Given the description of an element on the screen output the (x, y) to click on. 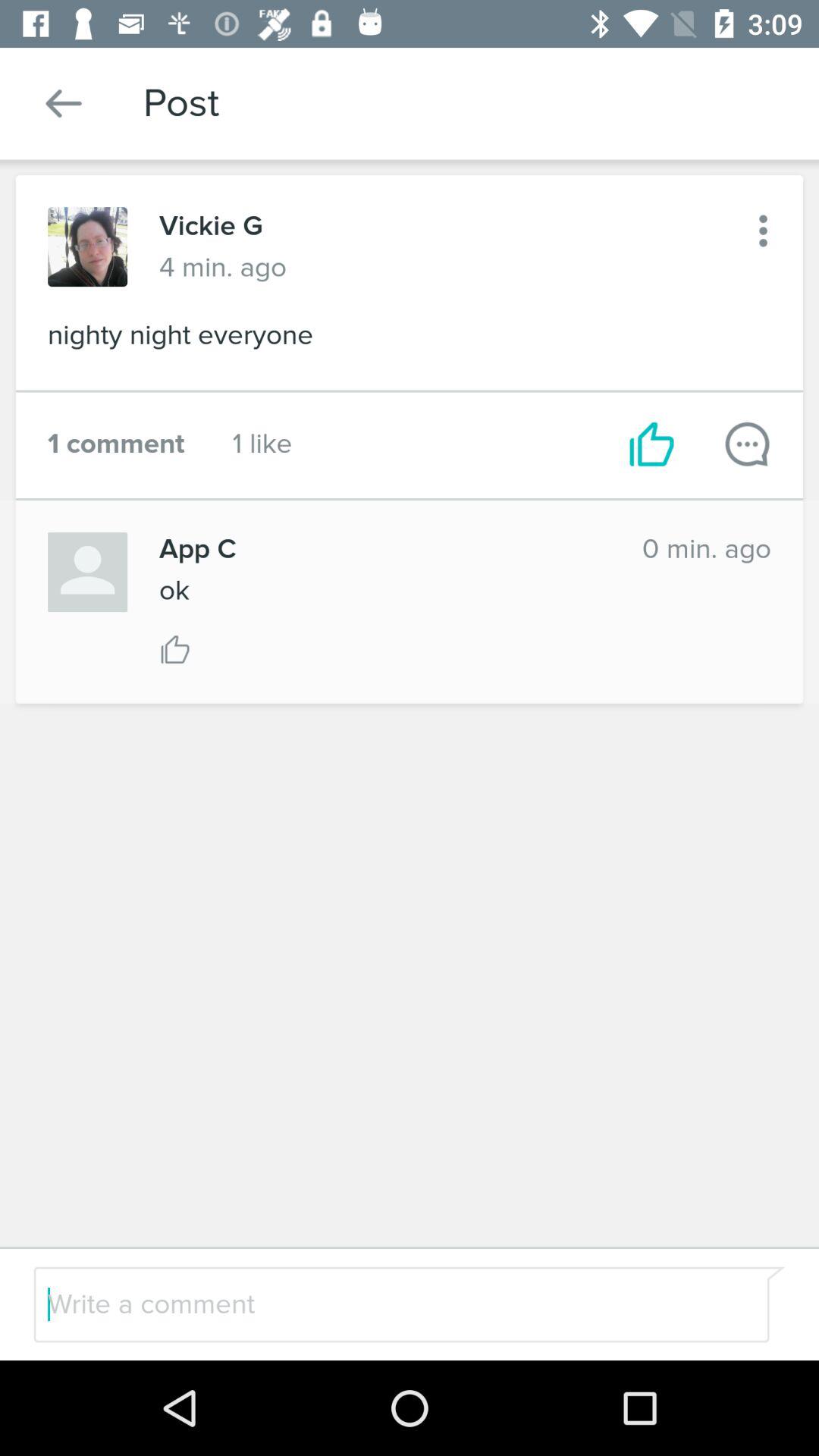
no picture uploaded (87, 571)
